Given the description of an element on the screen output the (x, y) to click on. 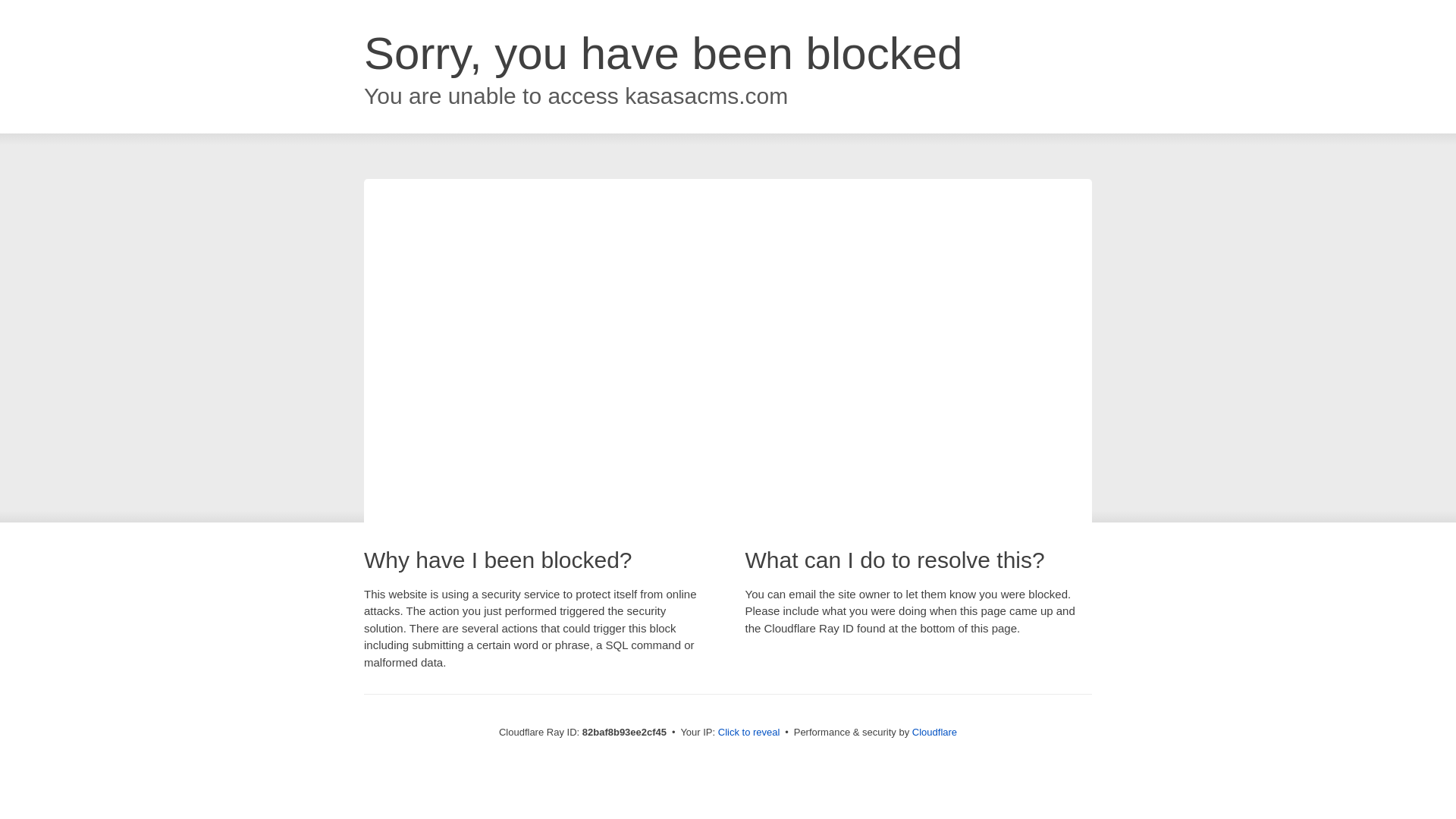
Cloudflare Element type: text (934, 731)
Click to reveal Element type: text (749, 732)
